Given the description of an element on the screen output the (x, y) to click on. 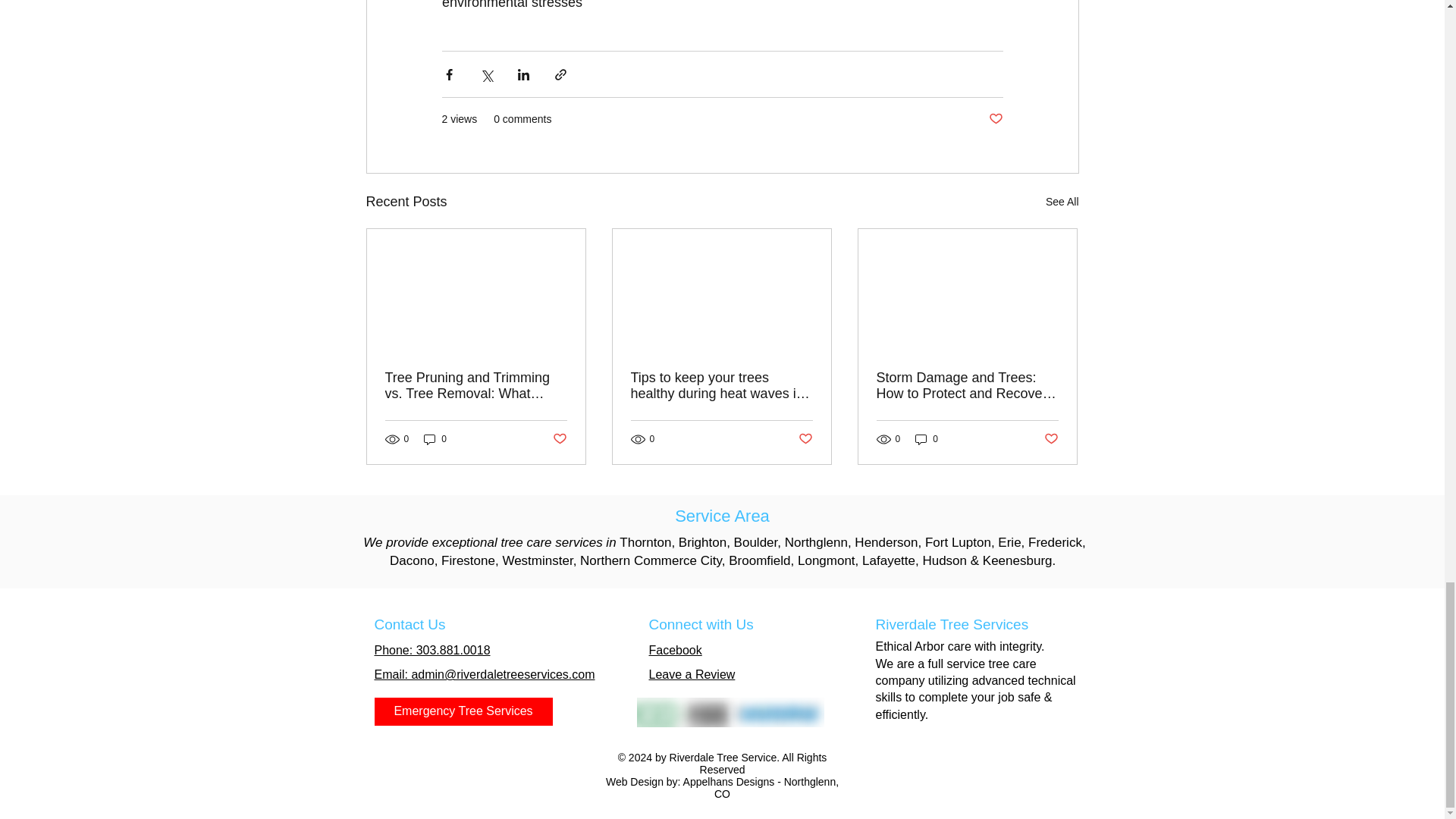
Post not marked as liked (558, 439)
Post not marked as liked (995, 119)
0 (435, 439)
See All (1061, 201)
